Given the description of an element on the screen output the (x, y) to click on. 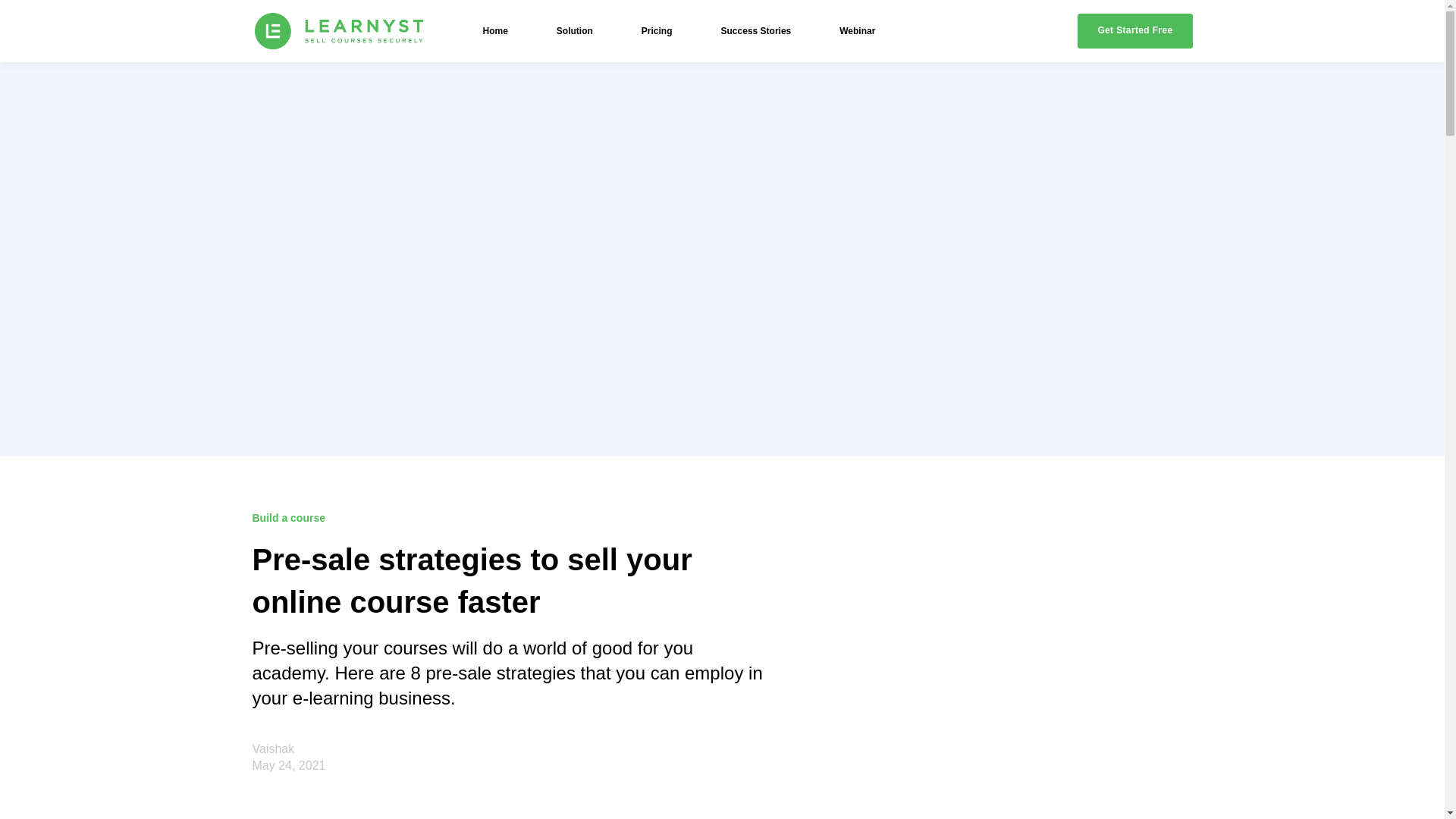
Success Stories (756, 30)
Solution (574, 30)
Webinar (857, 30)
Vaishak (272, 748)
Pricing (657, 30)
Get Started Free (1134, 30)
